Given the description of an element on the screen output the (x, y) to click on. 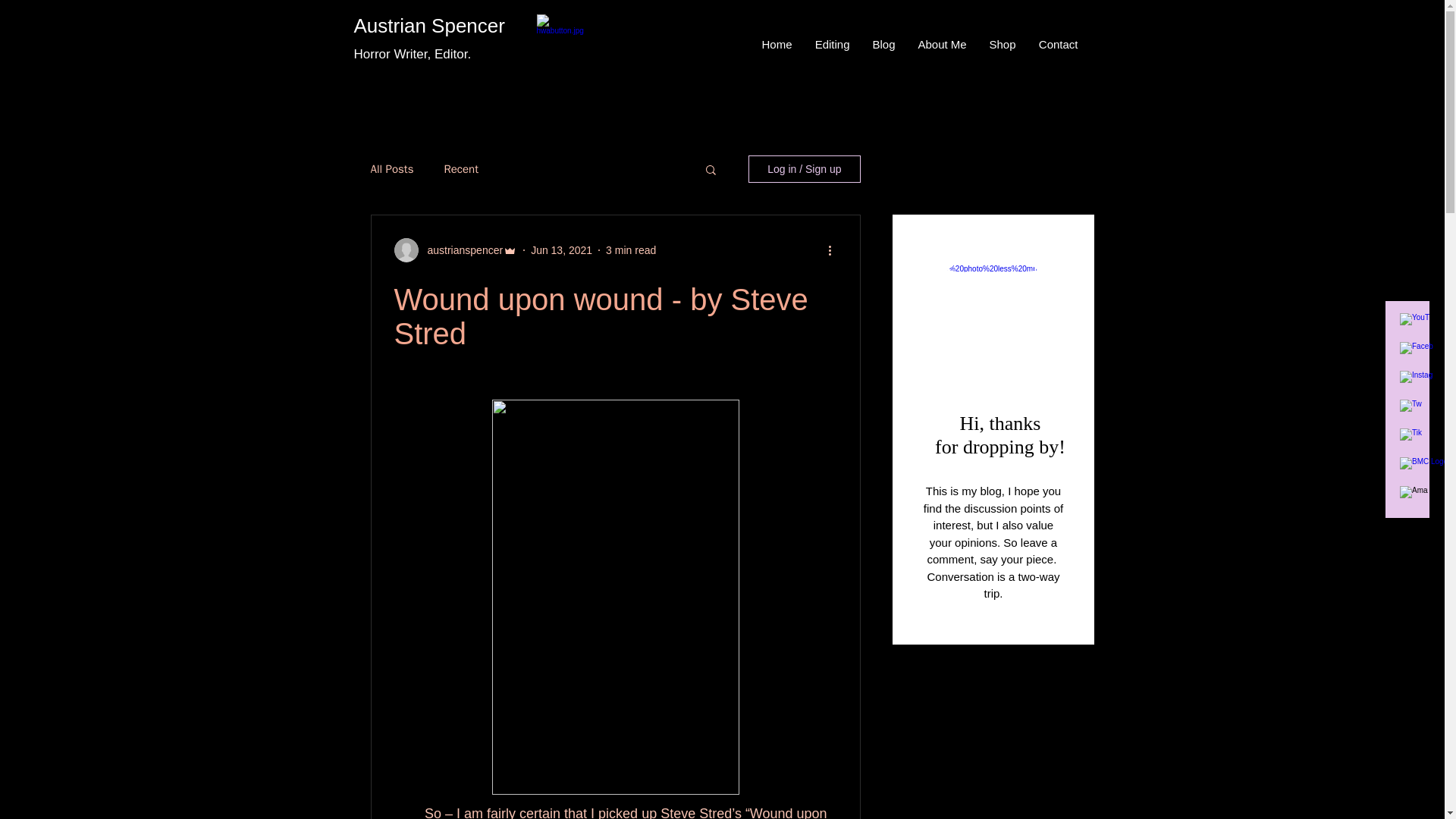
3 min read (630, 250)
Contact (1057, 44)
Editing (832, 44)
Jun 13, 2021 (561, 250)
Blog (884, 44)
About Me (942, 44)
Home (777, 44)
Recent (461, 169)
Austrian Spencer (428, 25)
All Posts (391, 169)
